Given the description of an element on the screen output the (x, y) to click on. 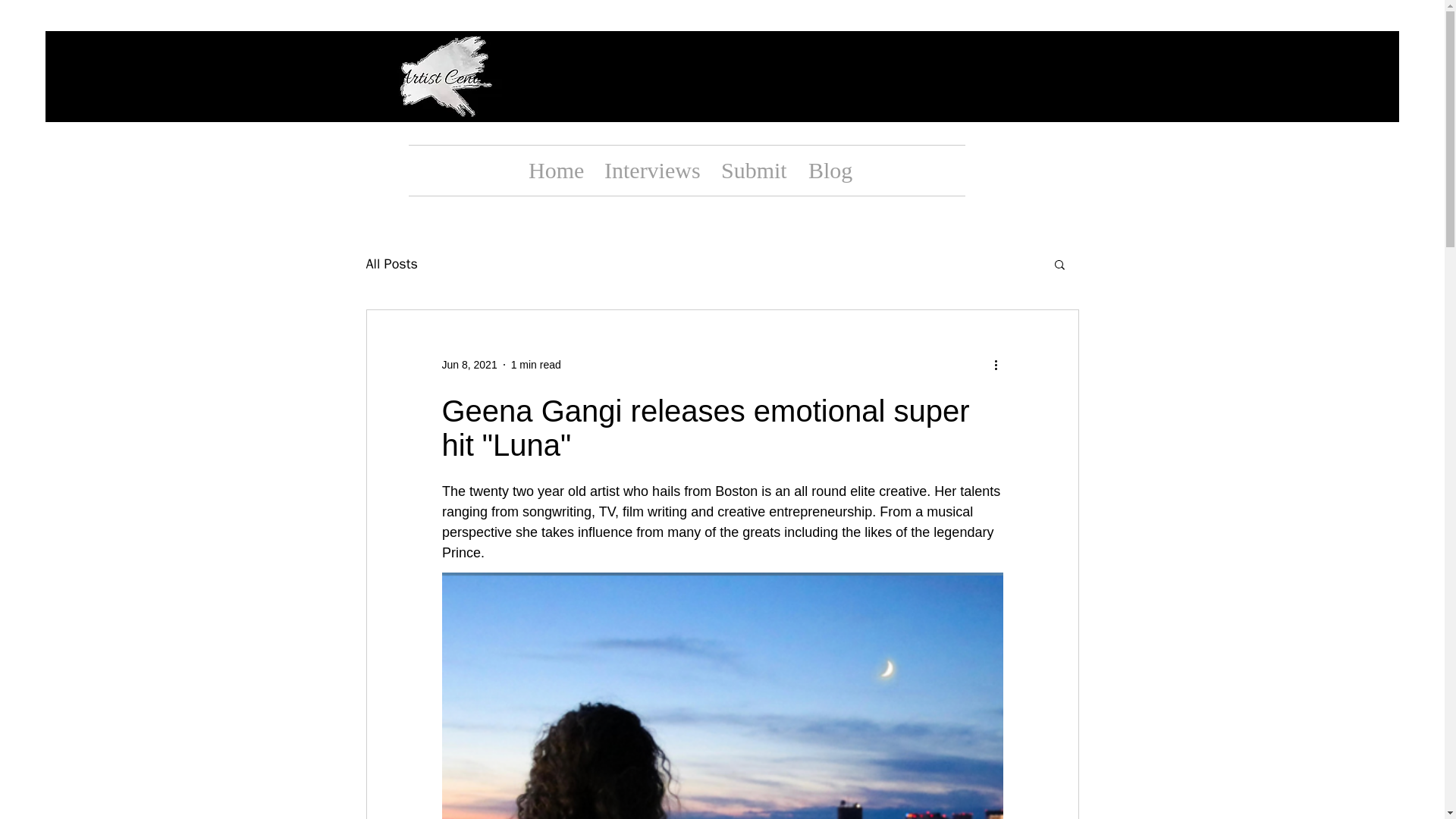
Blog (826, 170)
Jun 8, 2021 (468, 363)
All Posts (390, 263)
Interviews (651, 170)
1 min read (535, 363)
Home (554, 170)
Submit (753, 170)
